Given the description of an element on the screen output the (x, y) to click on. 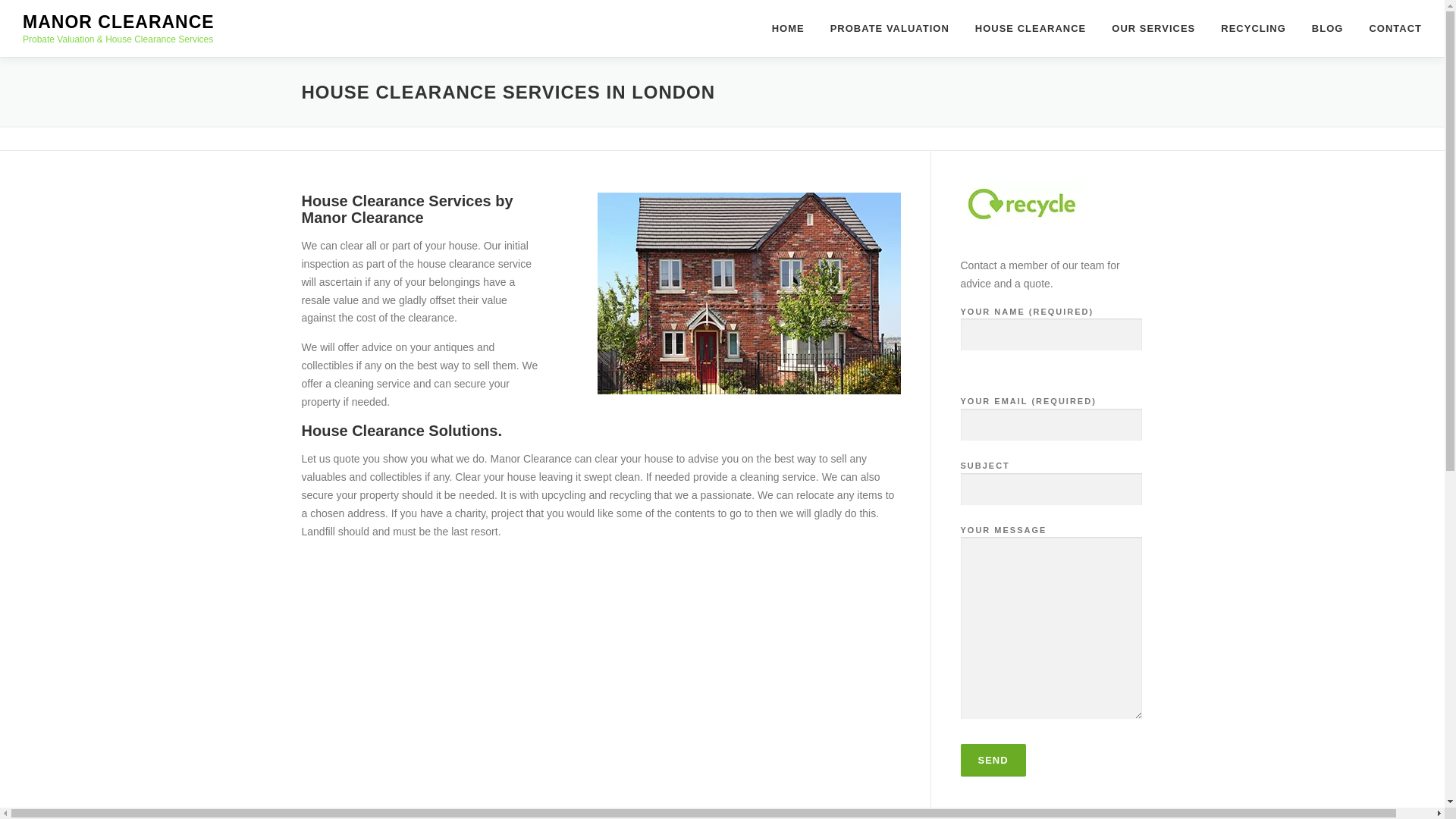
HOUSE CLEARANCE (1030, 28)
HOME (787, 28)
Recycle Now (1020, 203)
RECYCLING (1253, 28)
Tweets by ManorClearance (1024, 815)
PROBATE VALUATION (889, 28)
CONTACT (1388, 28)
Send (992, 759)
OUR SERVICES (1153, 28)
House Clearance Solutions. (401, 430)
Send (992, 759)
MANOR CLEARANCE (118, 21)
BLOG (1327, 28)
House Clearance Services (396, 200)
